Given the description of an element on the screen output the (x, y) to click on. 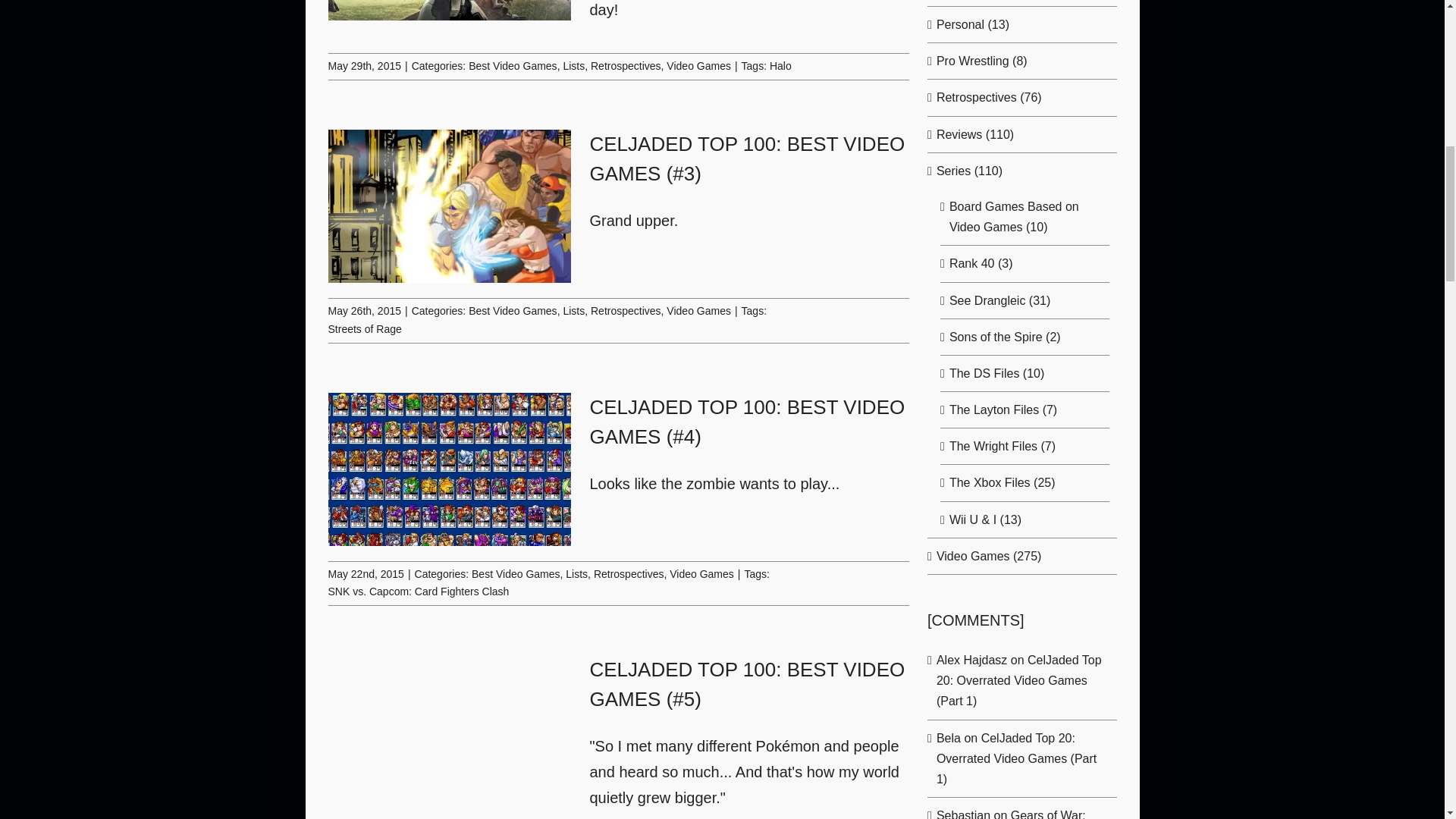
Lists (573, 310)
Retrospectives (626, 65)
Lists (573, 65)
Best Video Games (512, 310)
Video Games (698, 65)
Halo (781, 65)
Best Video Games (512, 65)
